Given the description of an element on the screen output the (x, y) to click on. 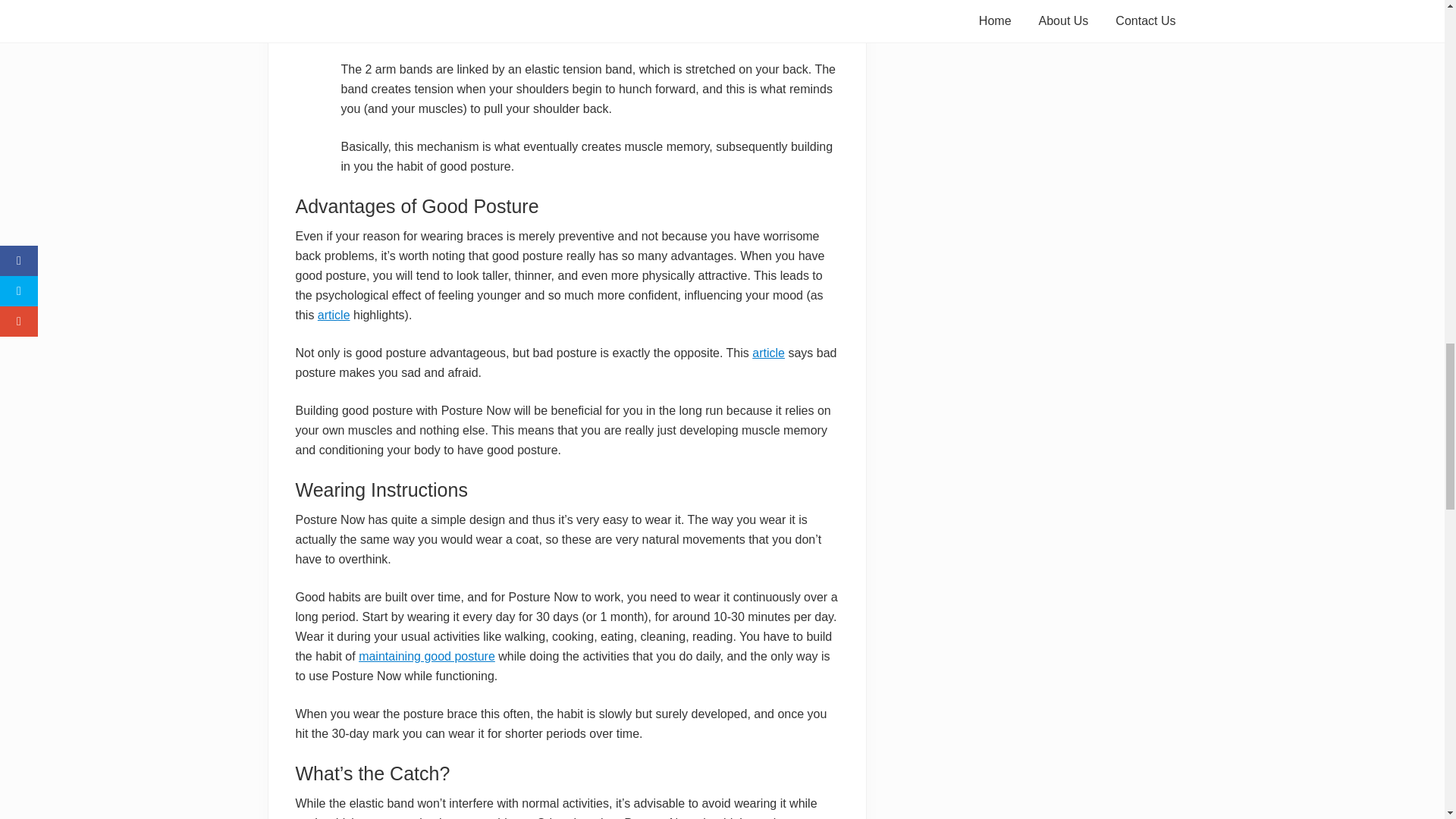
maintaining good posture (426, 656)
article (333, 314)
article (768, 352)
